Given the description of an element on the screen output the (x, y) to click on. 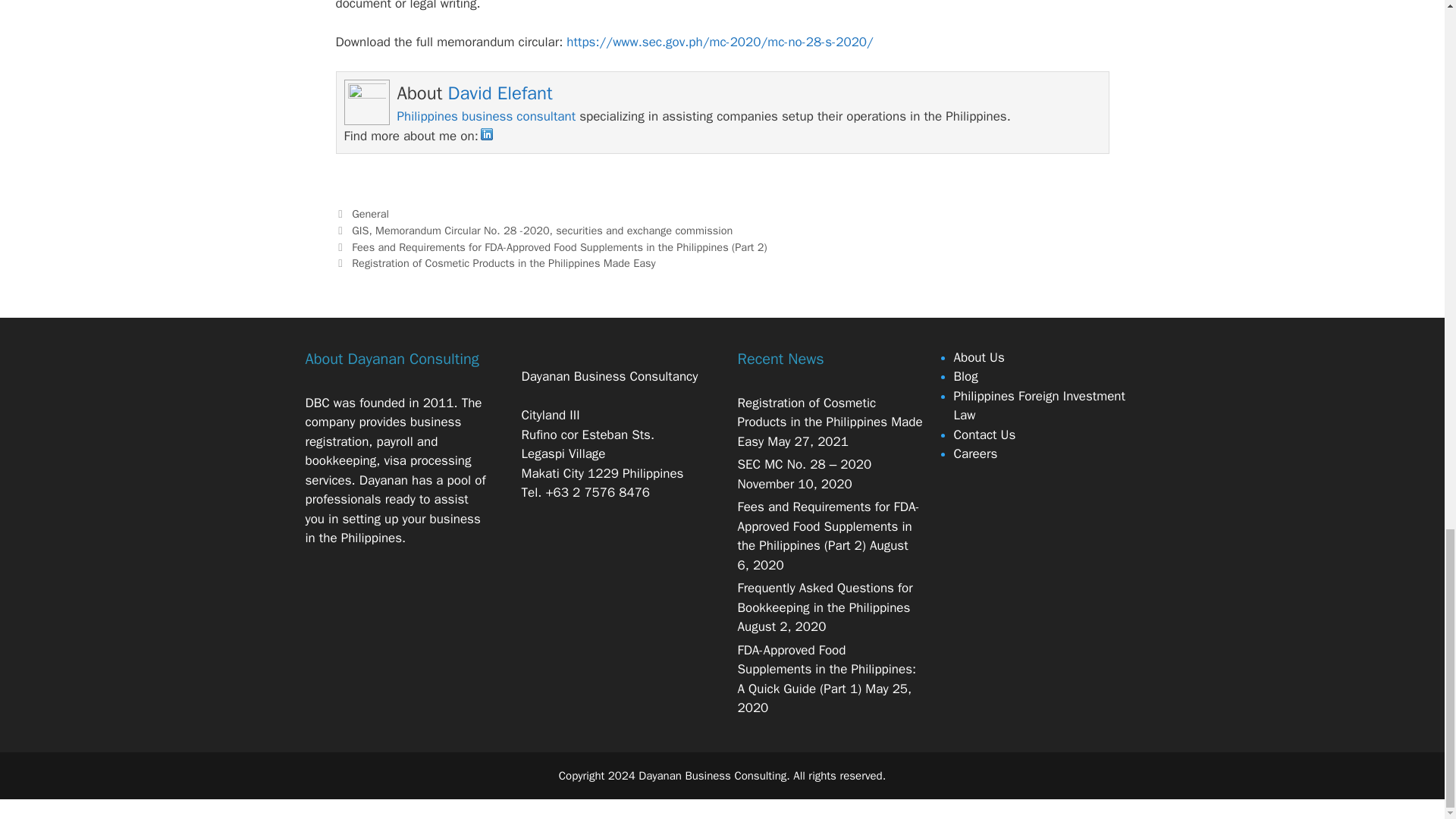
David Elefant (500, 92)
Follow me on Linkedin (486, 135)
